Given the description of an element on the screen output the (x, y) to click on. 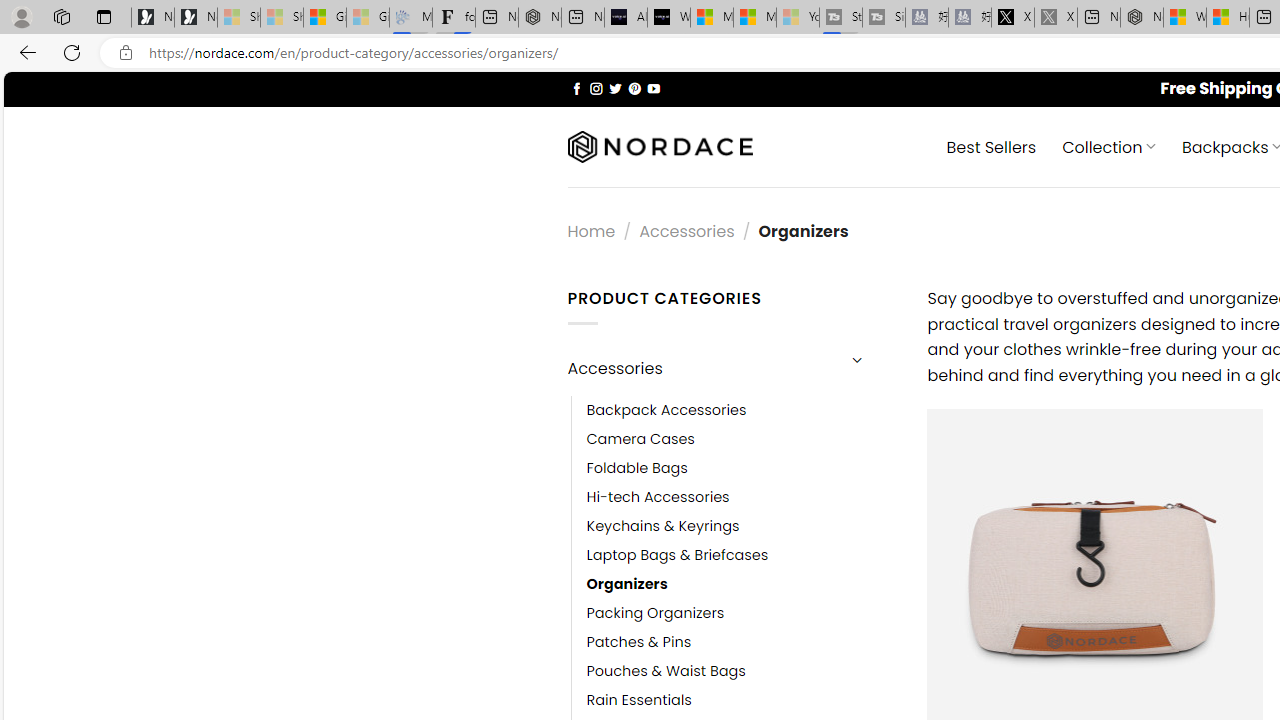
Wildlife - MSN (1184, 17)
Pouches & Waist Bags (666, 671)
Nordace (659, 147)
Packing Organizers (655, 614)
Backpack Accessories (742, 409)
  Best Sellers (990, 146)
What's the best AI voice generator? - voice.ai (668, 17)
Newsletter Sign Up (196, 17)
New tab (1098, 17)
Nordace (659, 147)
X - Sleeping (1055, 17)
Patches & Pins (639, 642)
Accessories (700, 368)
Camera Cases (640, 439)
Hi-tech Accessories (657, 496)
